Given the description of an element on the screen output the (x, y) to click on. 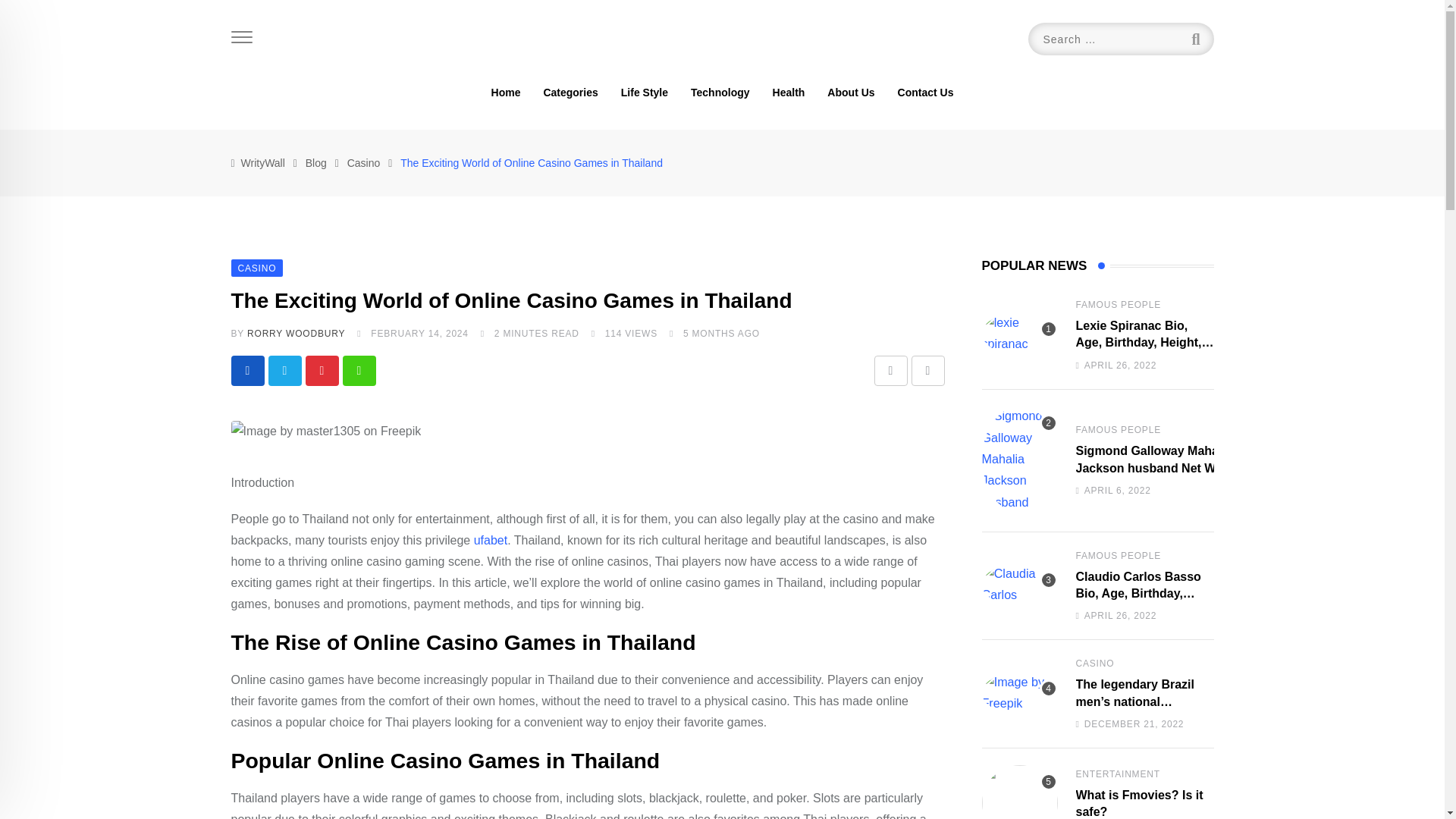
Technology (720, 92)
Blog (315, 162)
WrityWall (263, 162)
Contact Us (925, 92)
About Us (850, 92)
Life Style (644, 92)
Go to Blog. (315, 162)
Pinterest (320, 370)
Casino (363, 162)
What is Fmovies? Is it safe? (1019, 791)
CASINO (256, 267)
Go to WrityWall. (263, 162)
Posts by Rorry Woodbury (296, 333)
RORRY WOODBURY (296, 333)
